Given the description of an element on the screen output the (x, y) to click on. 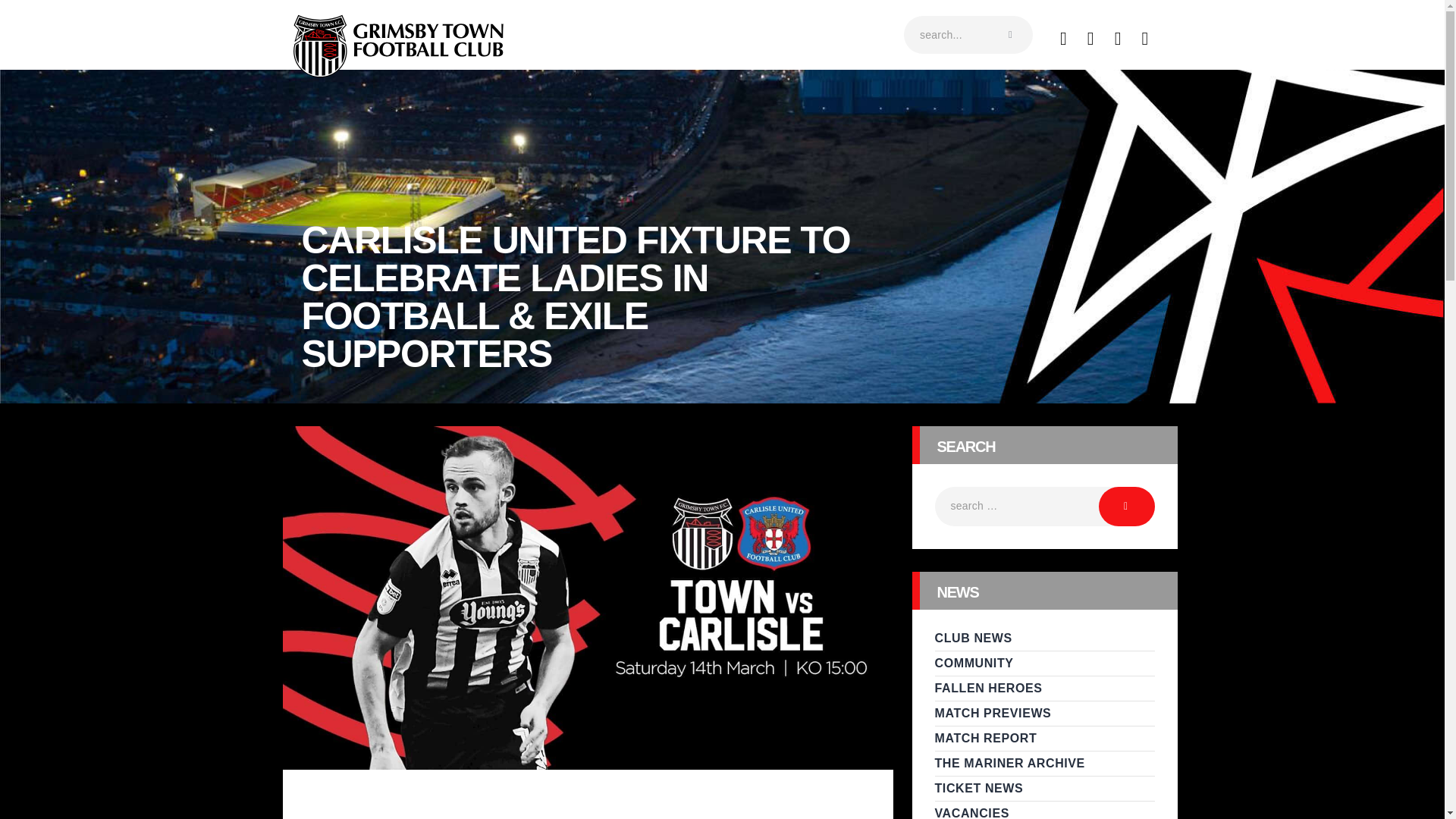
Search (1126, 506)
Search (1126, 506)
